Given the description of an element on the screen output the (x, y) to click on. 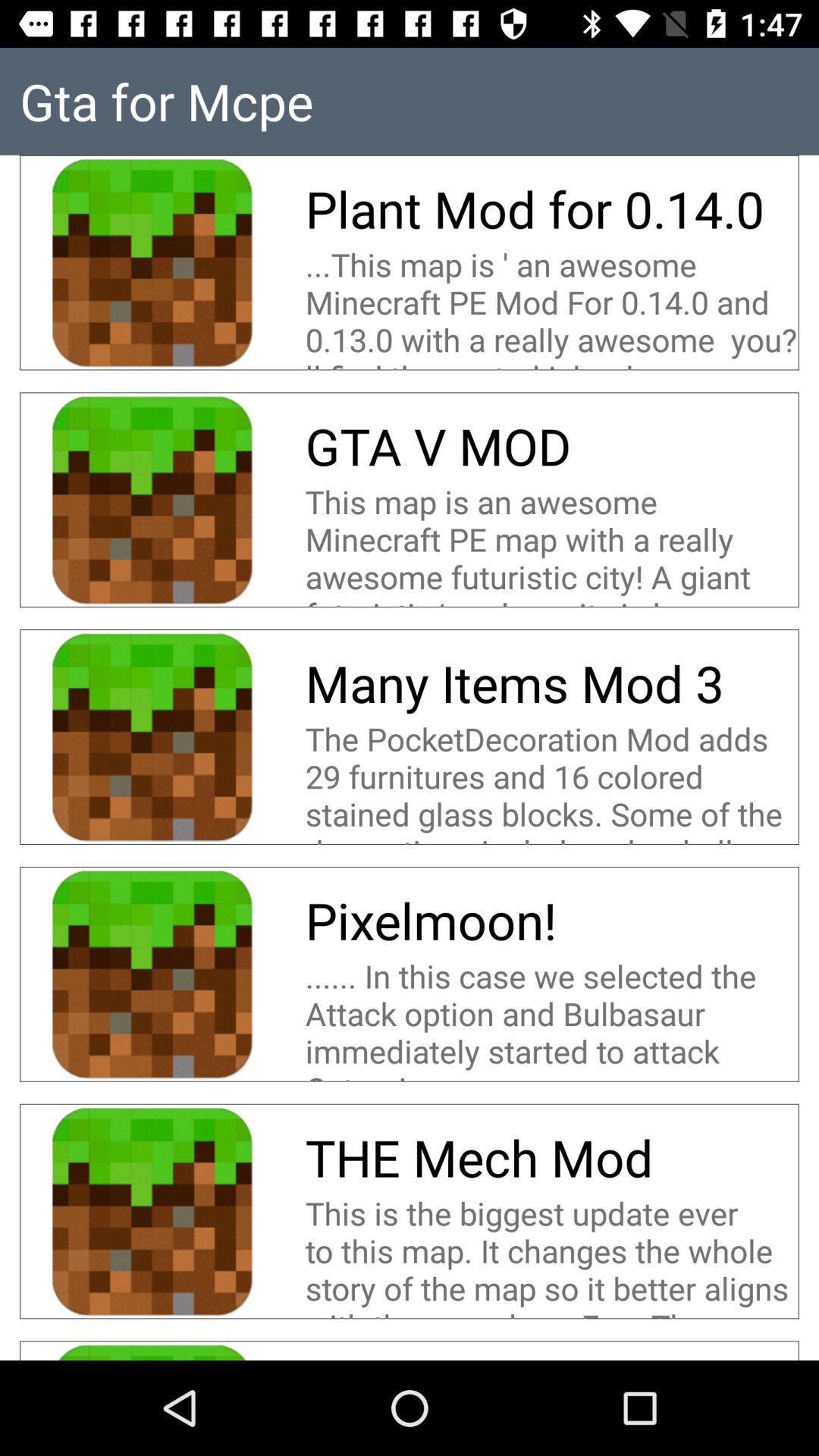
launch the app below the pocketdecoration mod (430, 920)
